Given the description of an element on the screen output the (x, y) to click on. 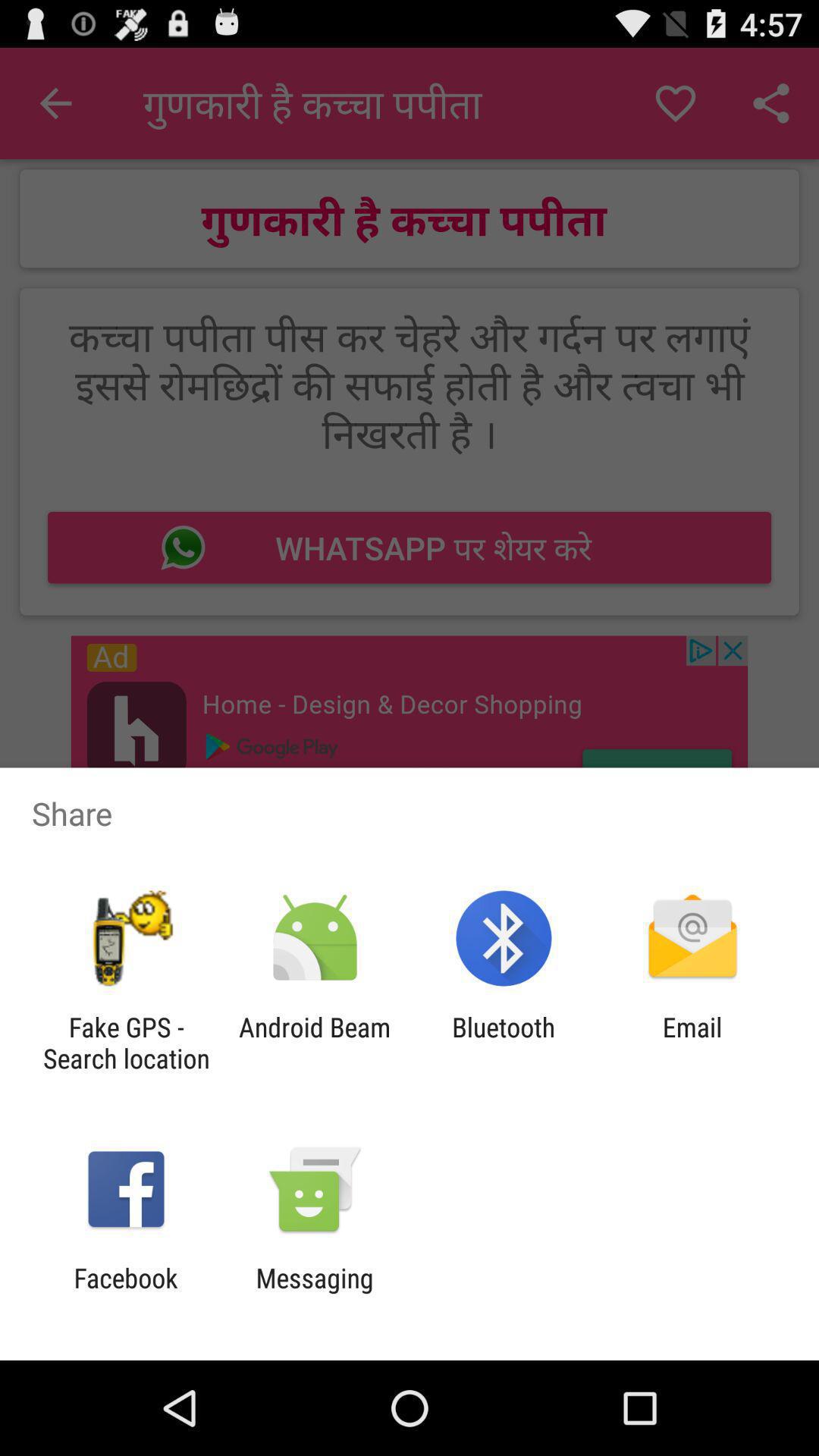
click app next to android beam (125, 1042)
